Given the description of an element on the screen output the (x, y) to click on. 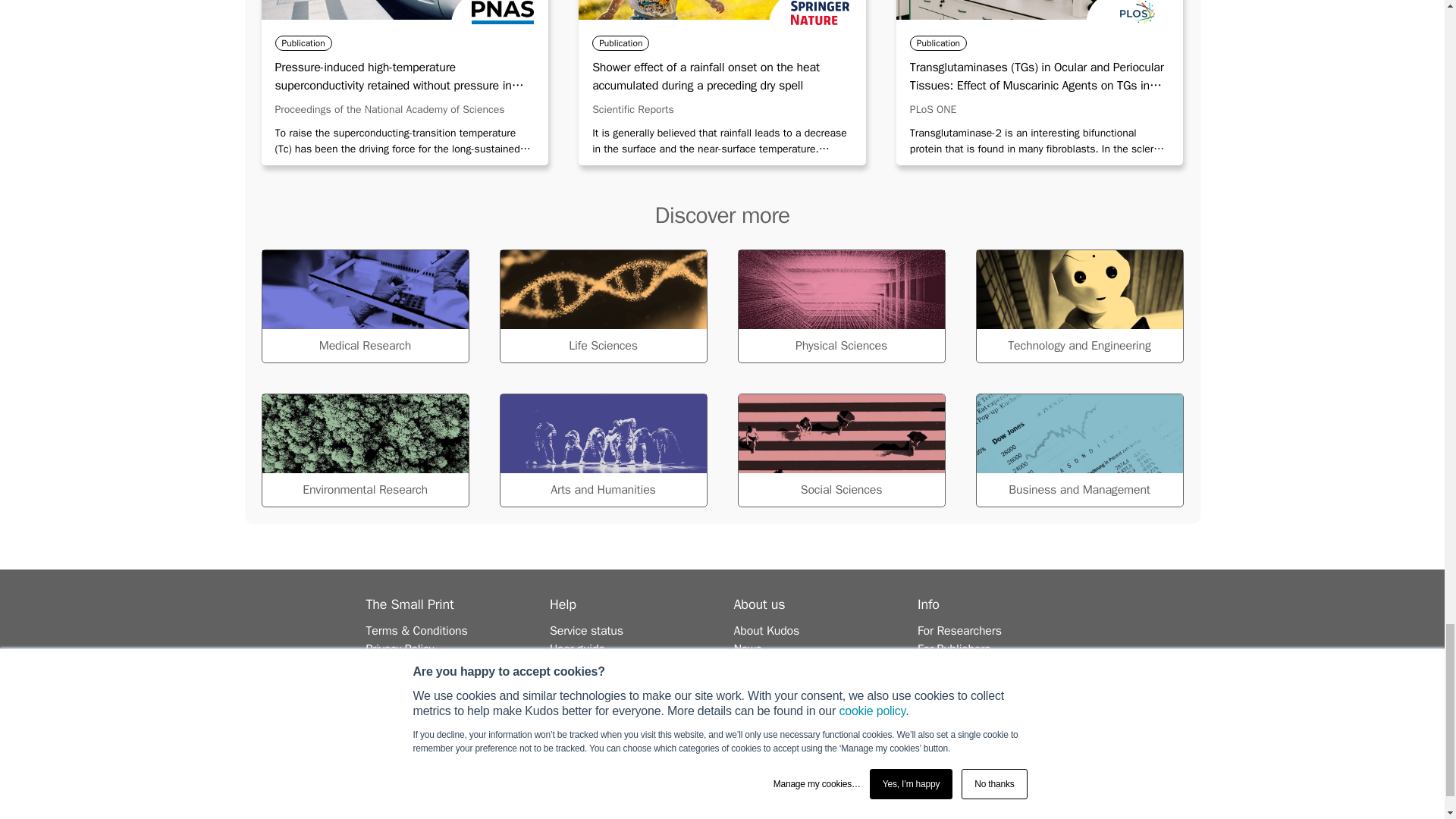
Environmental Research (364, 449)
Proceedings of the National Academy of Sciences (389, 109)
Logo Usage (395, 667)
Business and Management (1078, 449)
Life Sciences (602, 306)
Social Sciences (840, 449)
Scientific Reports (633, 109)
PLoS ONE (933, 109)
Privacy Policy (399, 648)
Medical Research (364, 306)
Arts and Humanities (602, 449)
Technology and Engineering (1078, 306)
